Given the description of an element on the screen output the (x, y) to click on. 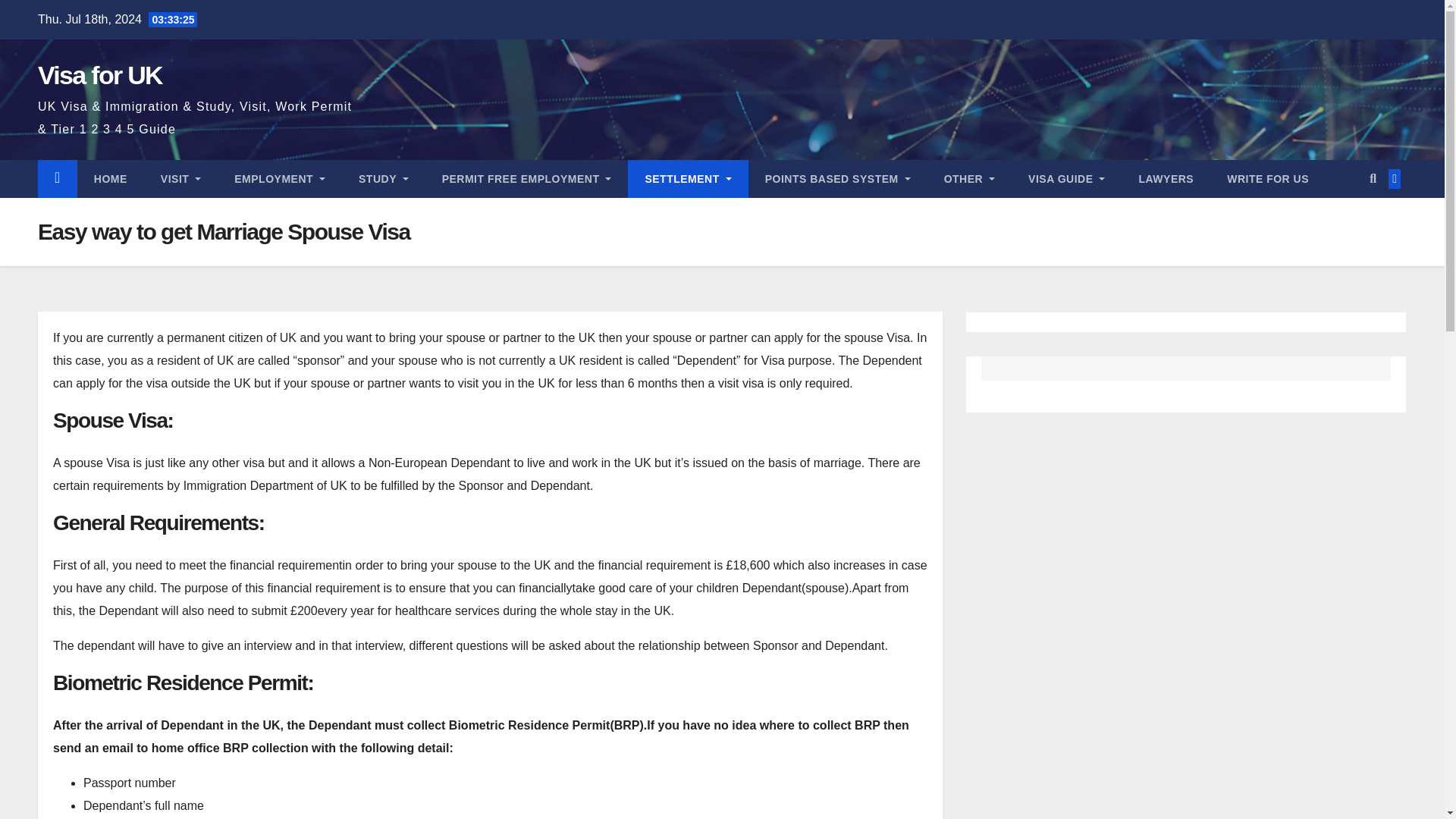
Home (110, 178)
HOME (110, 178)
Visa for UK (99, 74)
VISIT (180, 178)
Visit (180, 178)
EMPLOYMENT (279, 178)
